Given the description of an element on the screen output the (x, y) to click on. 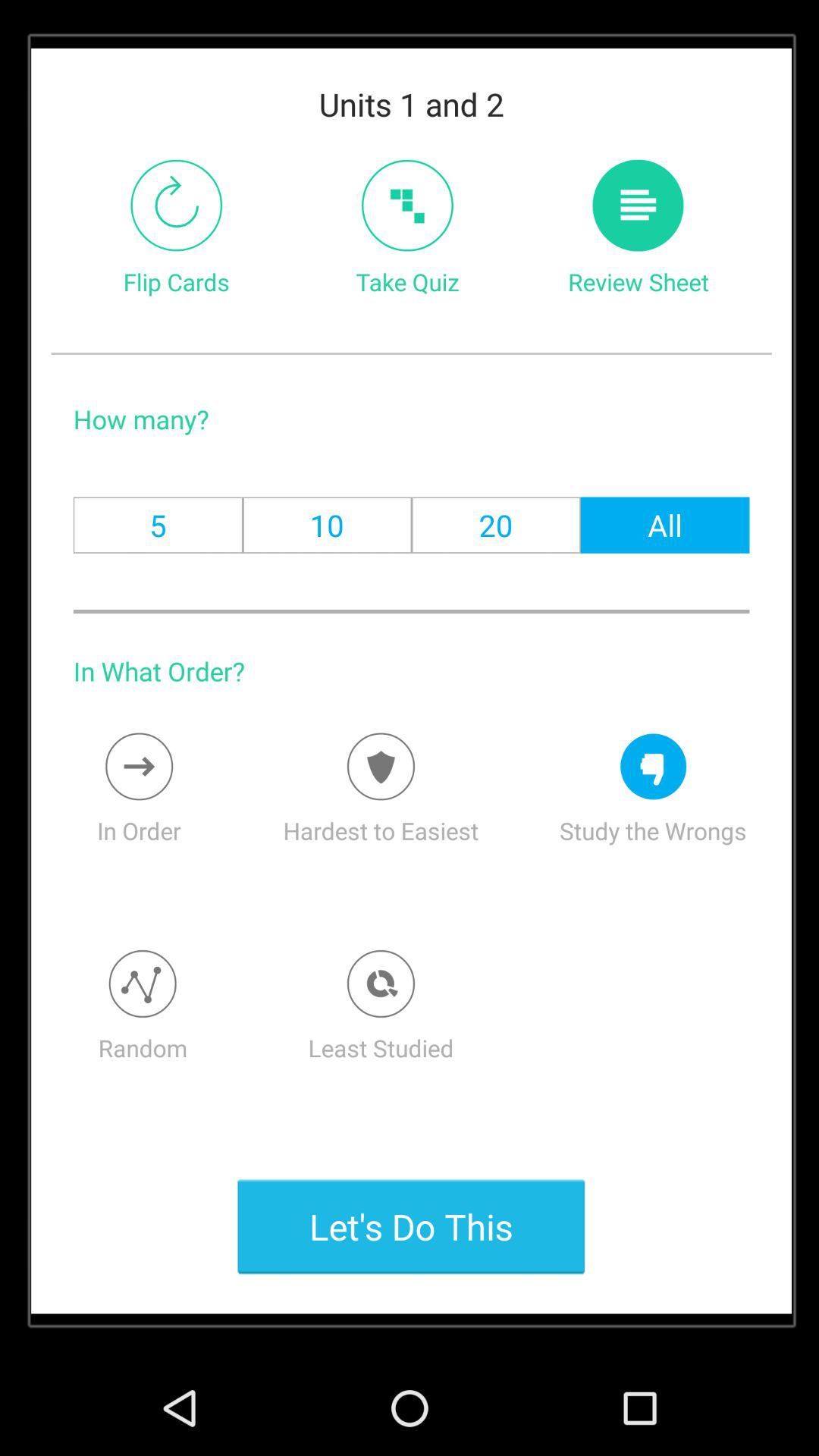
begin with hardest test (380, 766)
